Given the description of an element on the screen output the (x, y) to click on. 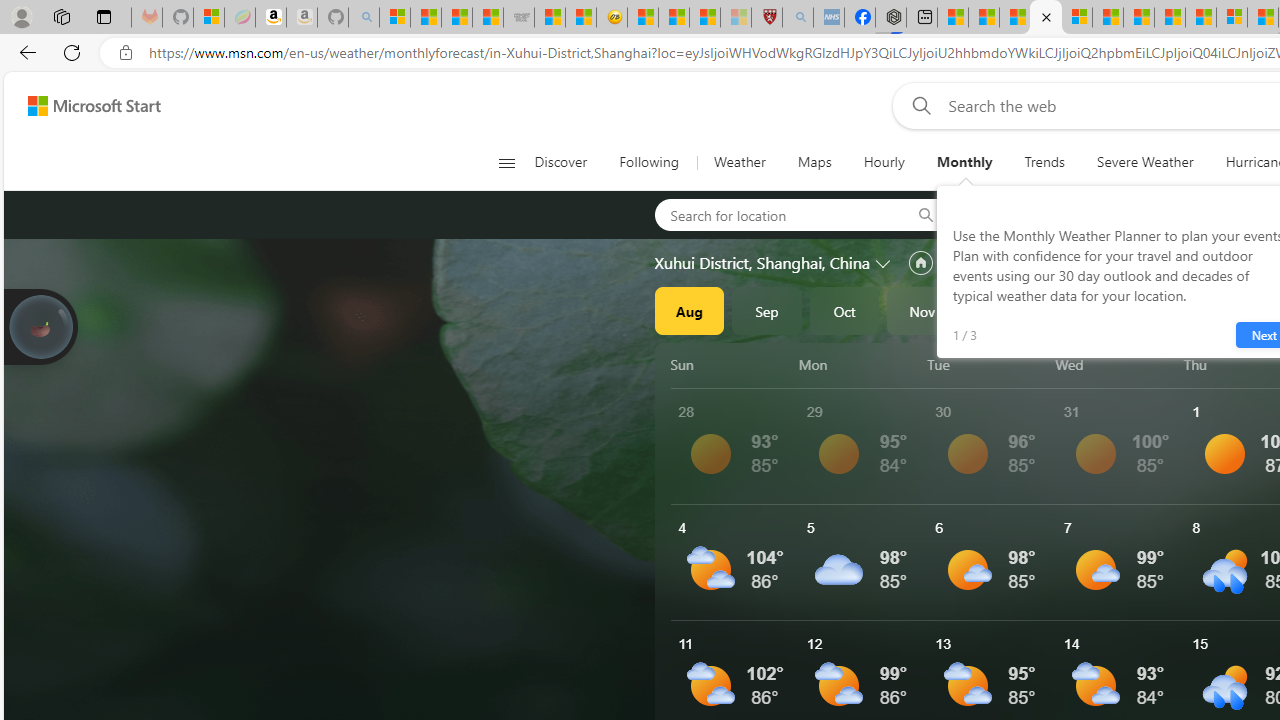
See More Details (1120, 561)
Aberdeen (1022, 214)
2025 Jan (1077, 310)
Set as primary location (920, 263)
Change location (884, 262)
Class: button-glyph (505, 162)
Sep (767, 310)
14 Common Myths Debunked By Scientific Facts (1169, 17)
